Given the description of an element on the screen output the (x, y) to click on. 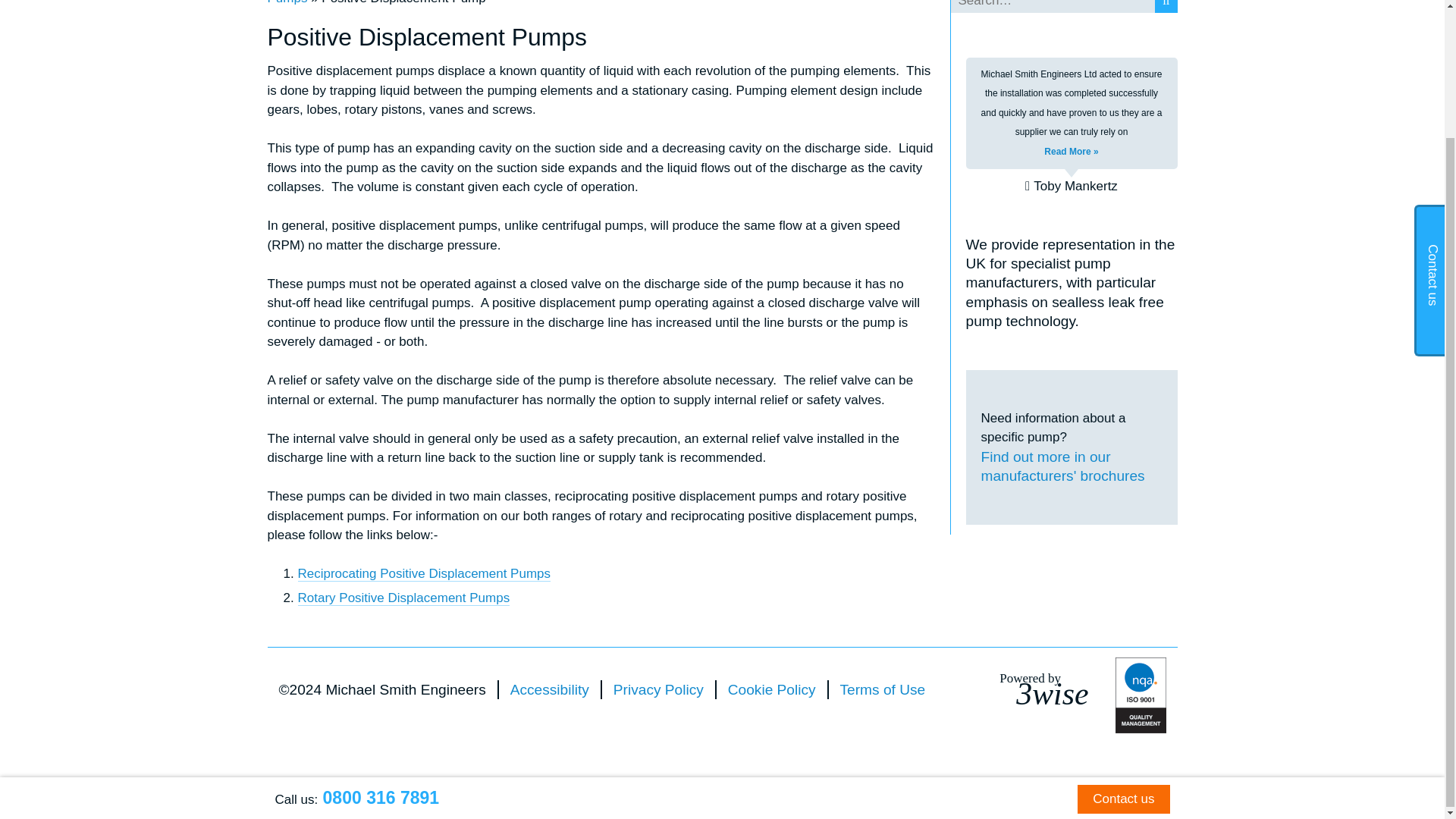
Terms of Use (883, 689)
Find out more in our manufacturers' brochures (1071, 466)
Cookie Policy (771, 689)
Pumps (286, 2)
Search (1165, 6)
Contact us (1123, 643)
Reciprocating Positive Displacement Pumps (1051, 686)
Accessibility (423, 573)
Privacy Policy (550, 689)
Rotary Positive Displacement Pumps (657, 689)
